Given the description of an element on the screen output the (x, y) to click on. 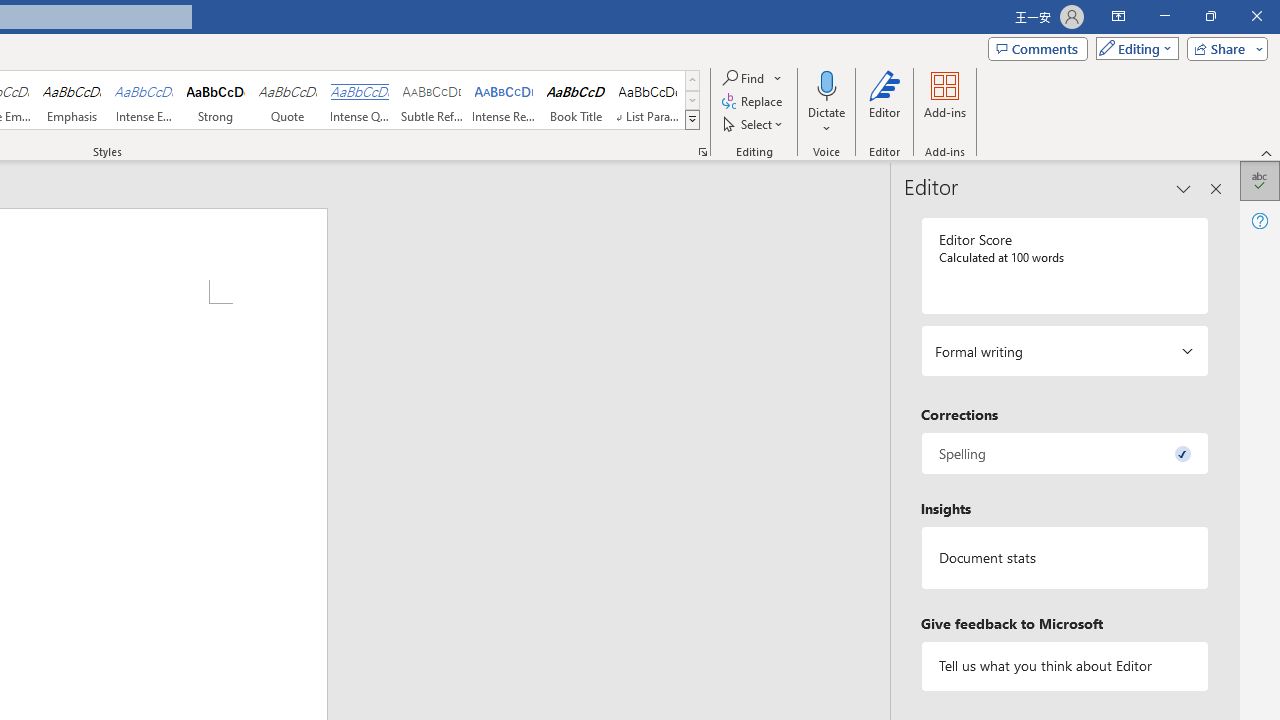
Book Title (575, 100)
Intense Quote (359, 100)
Strong (216, 100)
Row up (692, 79)
Mode (1133, 47)
Subtle Reference (431, 100)
